Given the description of an element on the screen output the (x, y) to click on. 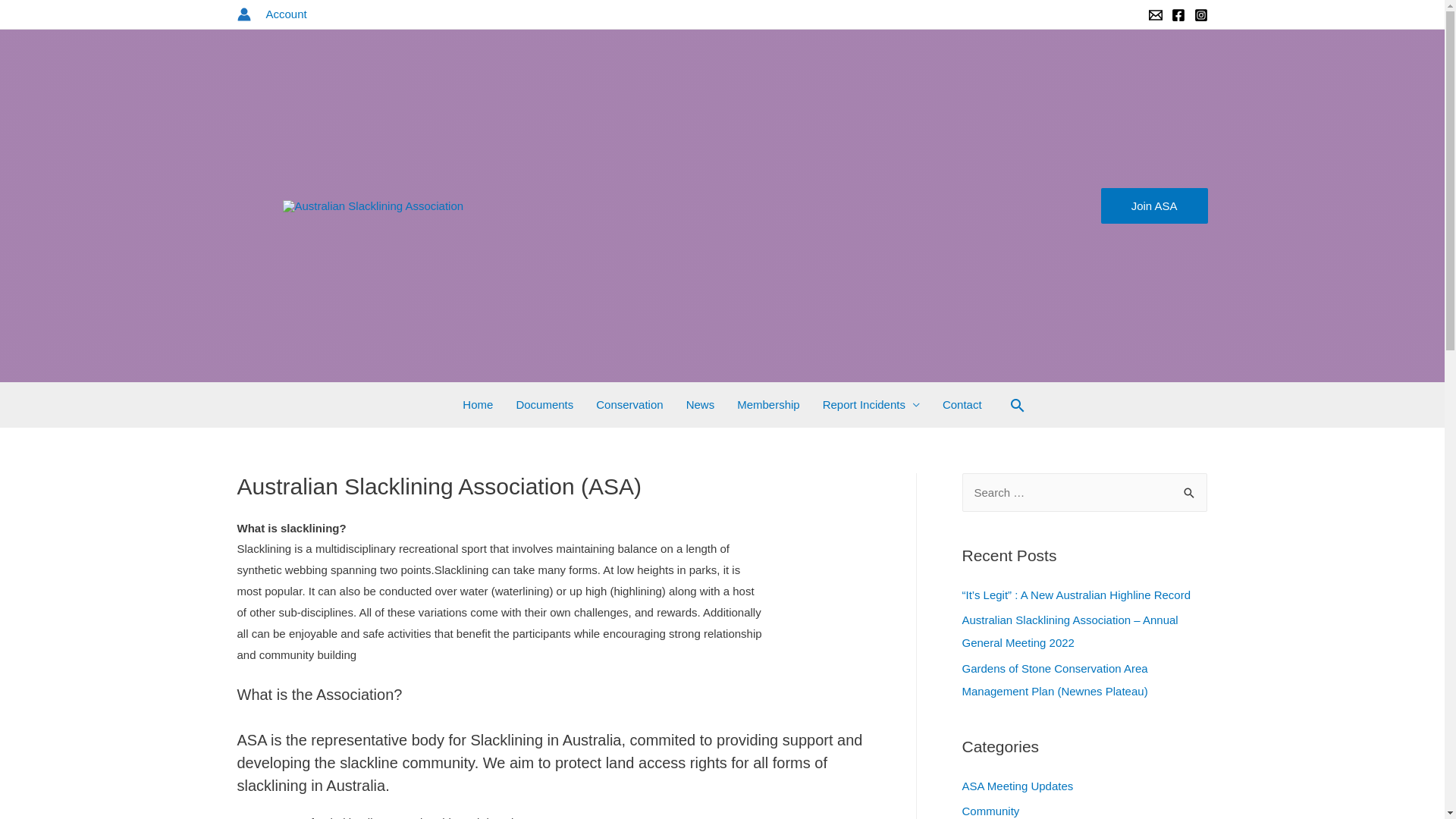
Account Element type: text (285, 13)
Join ASA Element type: text (1154, 206)
Search Element type: text (1189, 493)
Conservation Element type: text (629, 404)
Documents Element type: text (544, 404)
Report Incidents Element type: text (871, 404)
Community Element type: text (990, 810)
Search Element type: text (1017, 404)
Contact Element type: text (962, 404)
News Element type: text (700, 404)
Membership Element type: text (768, 404)
ASA Meeting Updates Element type: text (1017, 785)
Search Element type: text (39, 17)
Home Element type: text (477, 404)
